Given the description of an element on the screen output the (x, y) to click on. 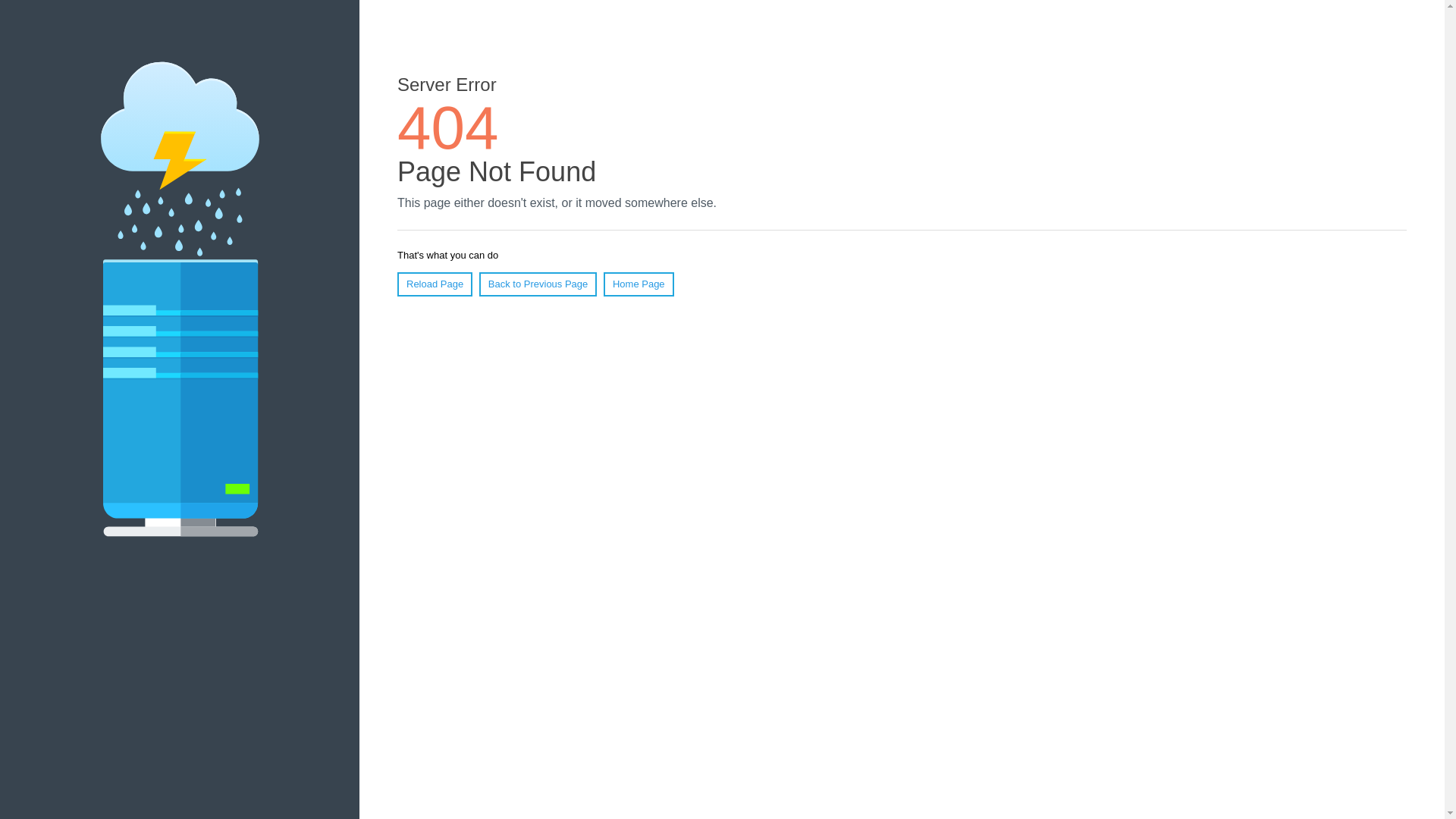
Back to Previous Page Element type: text (538, 284)
Reload Page Element type: text (434, 284)
Home Page Element type: text (638, 284)
